Given the description of an element on the screen output the (x, y) to click on. 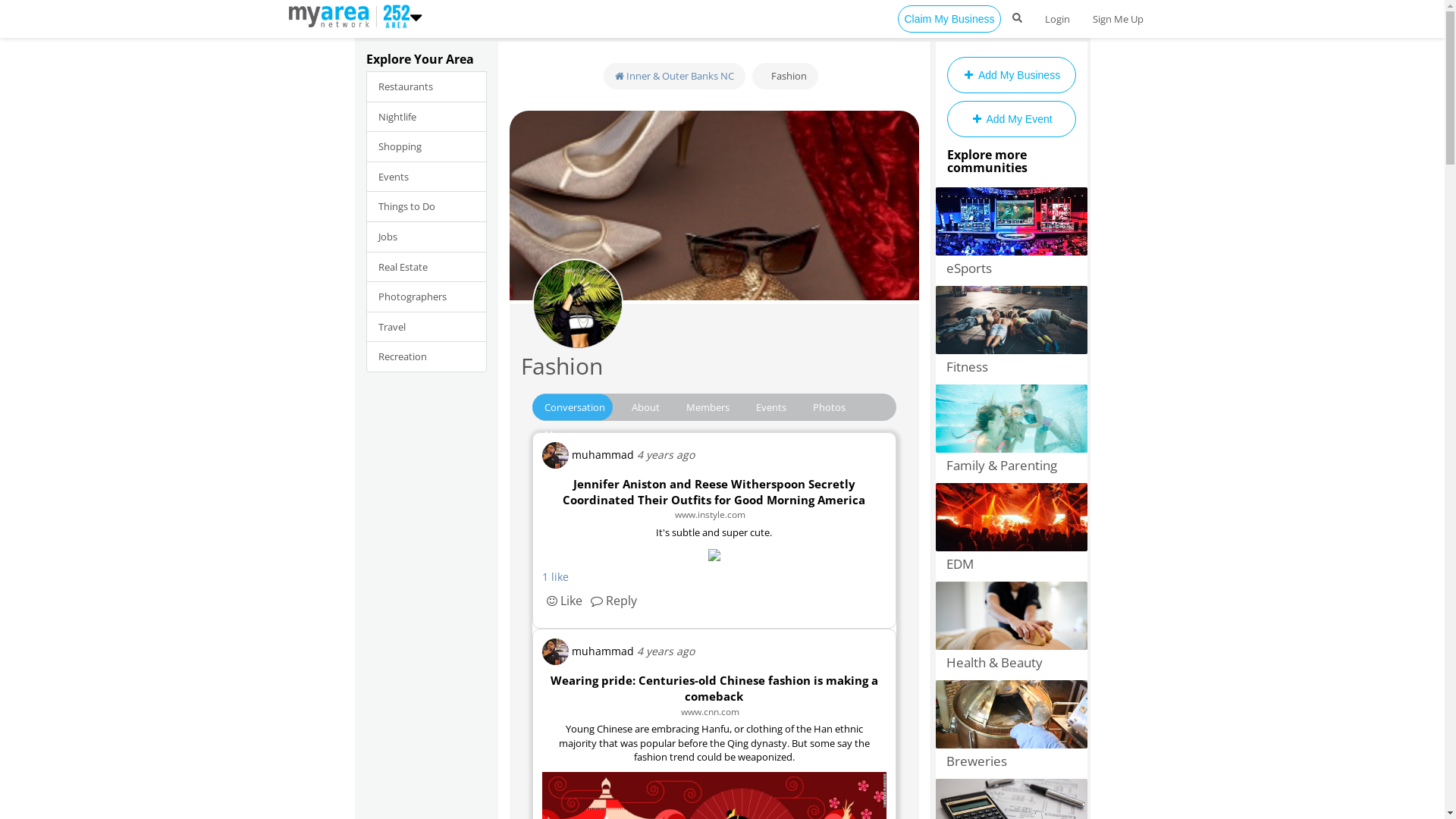
Real Estate Element type: text (425, 266)
Photographers Element type: text (425, 296)
Fitness Element type: text (1014, 366)
Jobs Element type: text (425, 236)
Sign Me Up Element type: text (1117, 18)
Nightlife Element type: text (425, 116)
Login Element type: text (1056, 18)
EDM Element type: text (1014, 564)
https://www.252area.com Element type: hover (332, 15)
Restaurants Element type: text (425, 86)
Things to Do Element type: text (425, 206)
About Element type: text (645, 407)
Recreation Element type: text (425, 356)
Photos Element type: text (828, 407)
Events Element type: text (771, 407)
Add My Business Element type: text (1010, 74)
Family & Parenting Element type: text (1014, 465)
More Element type: text (556, 434)
Conversation Element type: text (574, 407)
Claim My Business Element type: text (948, 18)
Inner & Outer Banks NC Element type: text (674, 75)
muhammad Element type: text (587, 455)
Shopping Element type: text (425, 146)
Travel Element type: text (425, 326)
https://www.252area.com Element type: hover (392, 15)
muhammad Element type: text (587, 651)
Events Element type: text (425, 176)
Like Element type: text (564, 600)
1 like Element type: text (555, 576)
Breweries Element type: text (1014, 761)
eSports Element type: text (1014, 268)
Reply Element type: text (620, 600)
Members Element type: text (707, 407)
Health & Beauty Element type: text (1014, 662)
Add My Event Element type: text (1010, 118)
